Given the description of an element on the screen output the (x, y) to click on. 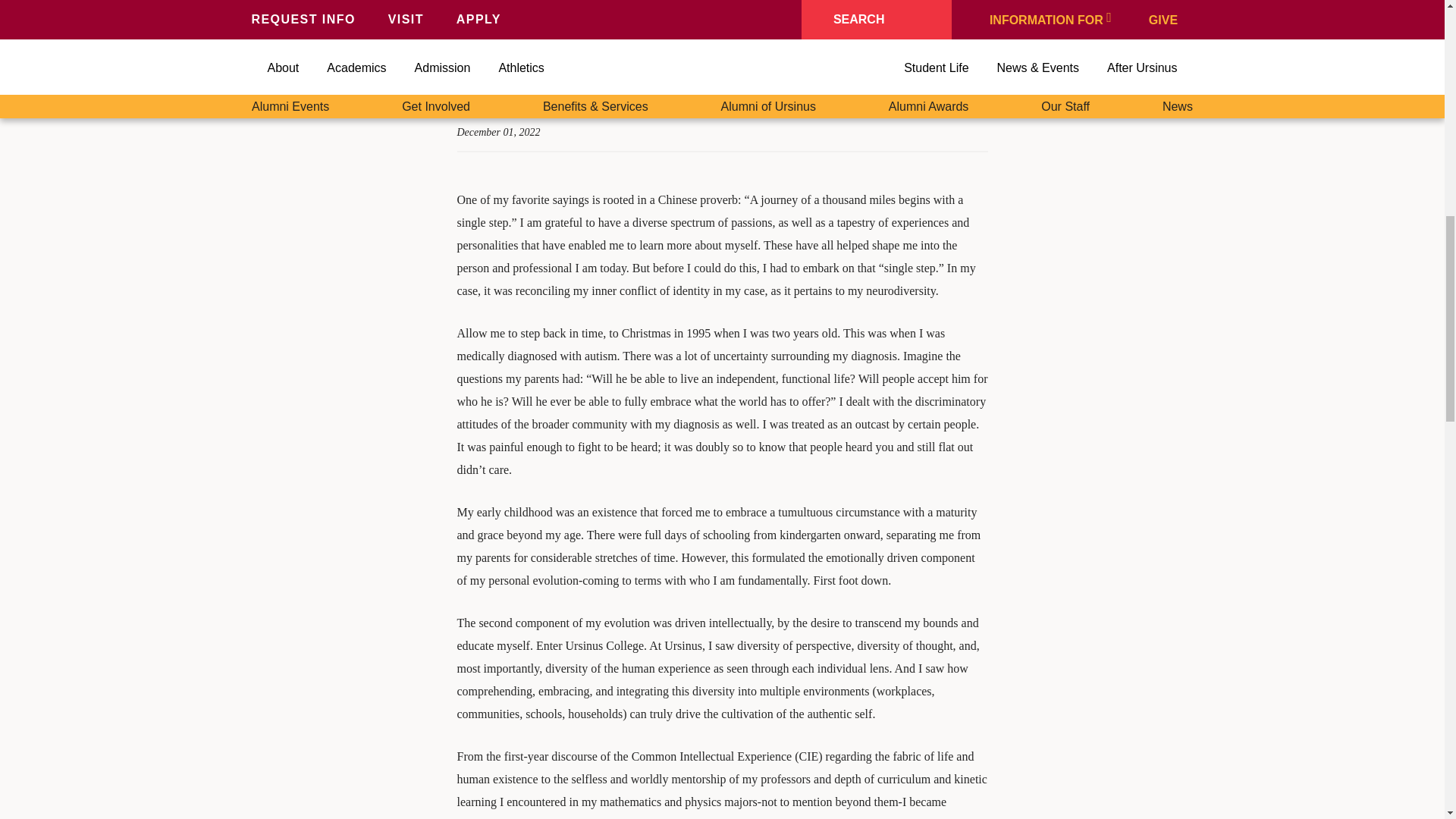
December 01, 2022 (498, 132)
